Given the description of an element on the screen output the (x, y) to click on. 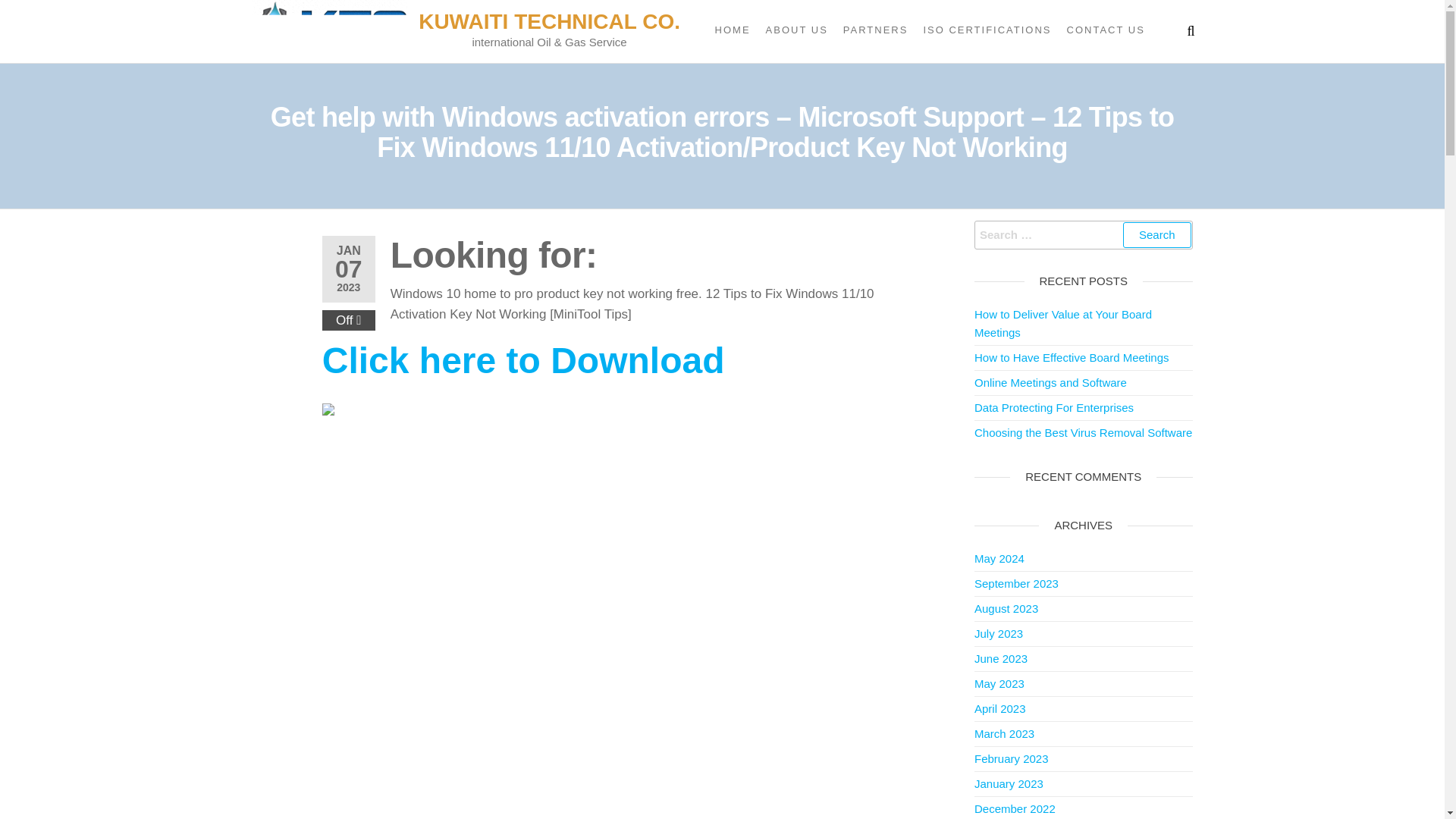
April 2023 (1000, 707)
March 2023 (1003, 733)
Click here to Download (523, 368)
Search (1156, 234)
KUWAITI TECHNICAL CO. (549, 21)
July 2023 (998, 633)
January 2023 (1008, 783)
Partners (875, 30)
February 2023 (1011, 758)
Search (1156, 234)
